Given the description of an element on the screen output the (x, y) to click on. 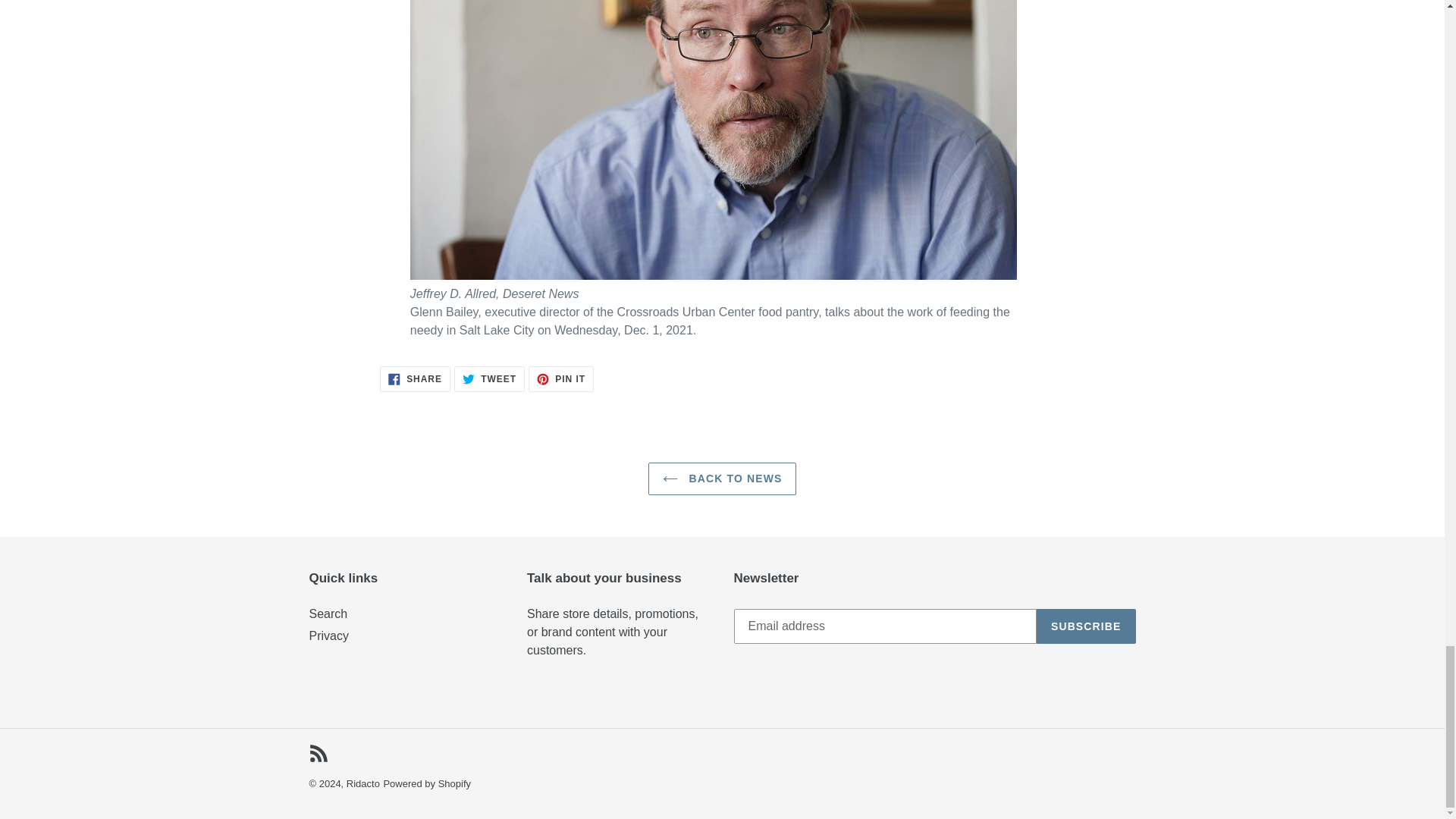
Ridacto (363, 783)
Search (414, 379)
SUBSCRIBE (561, 379)
Privacy (327, 613)
Powered by Shopify (1085, 626)
BACK TO NEWS (489, 379)
RSS (328, 635)
